Given the description of an element on the screen output the (x, y) to click on. 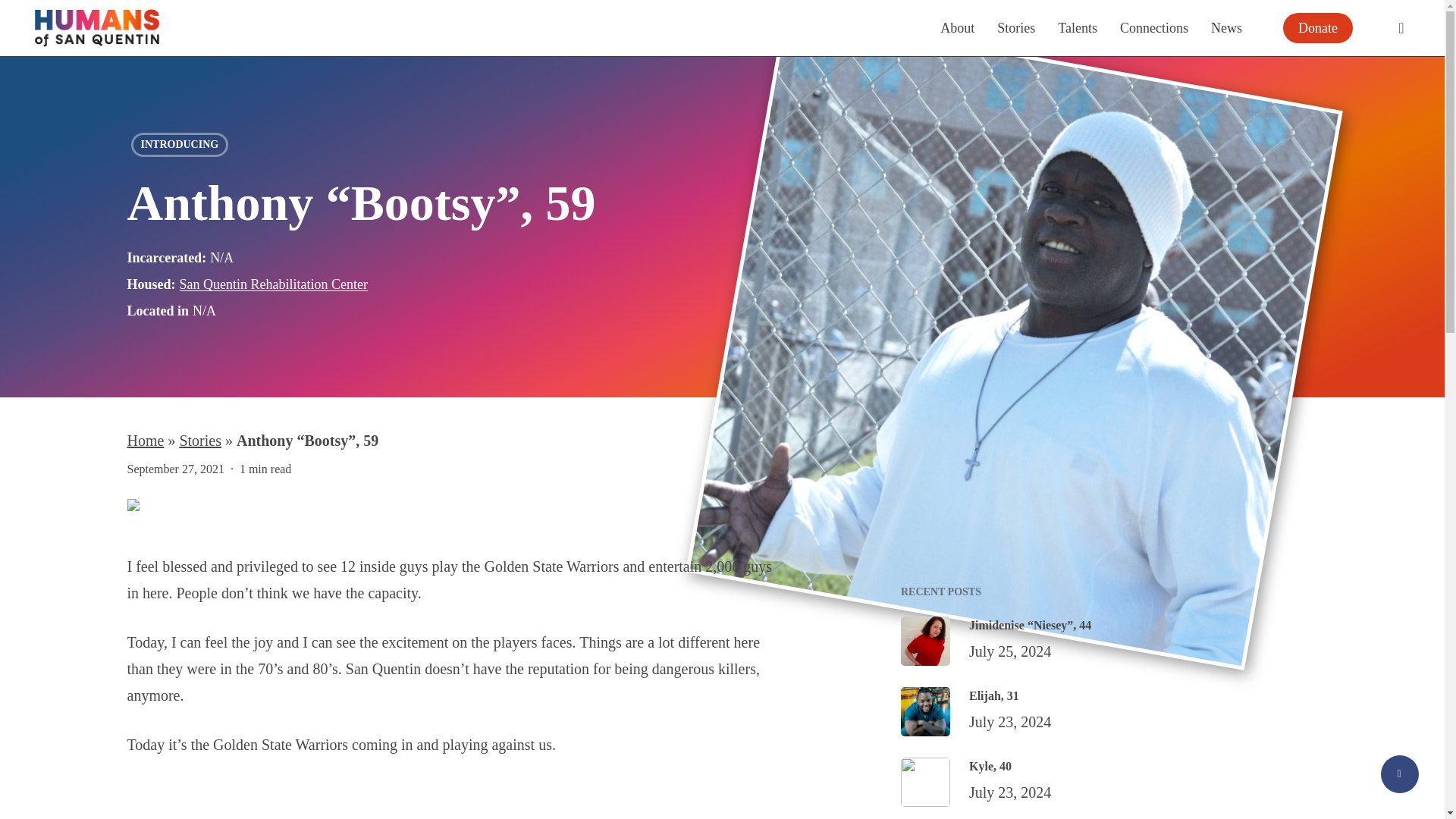
News (1226, 27)
About (957, 27)
Stories (1016, 27)
Donate (1318, 27)
Talents (1077, 27)
Connections (1153, 27)
